Given the description of an element on the screen output the (x, y) to click on. 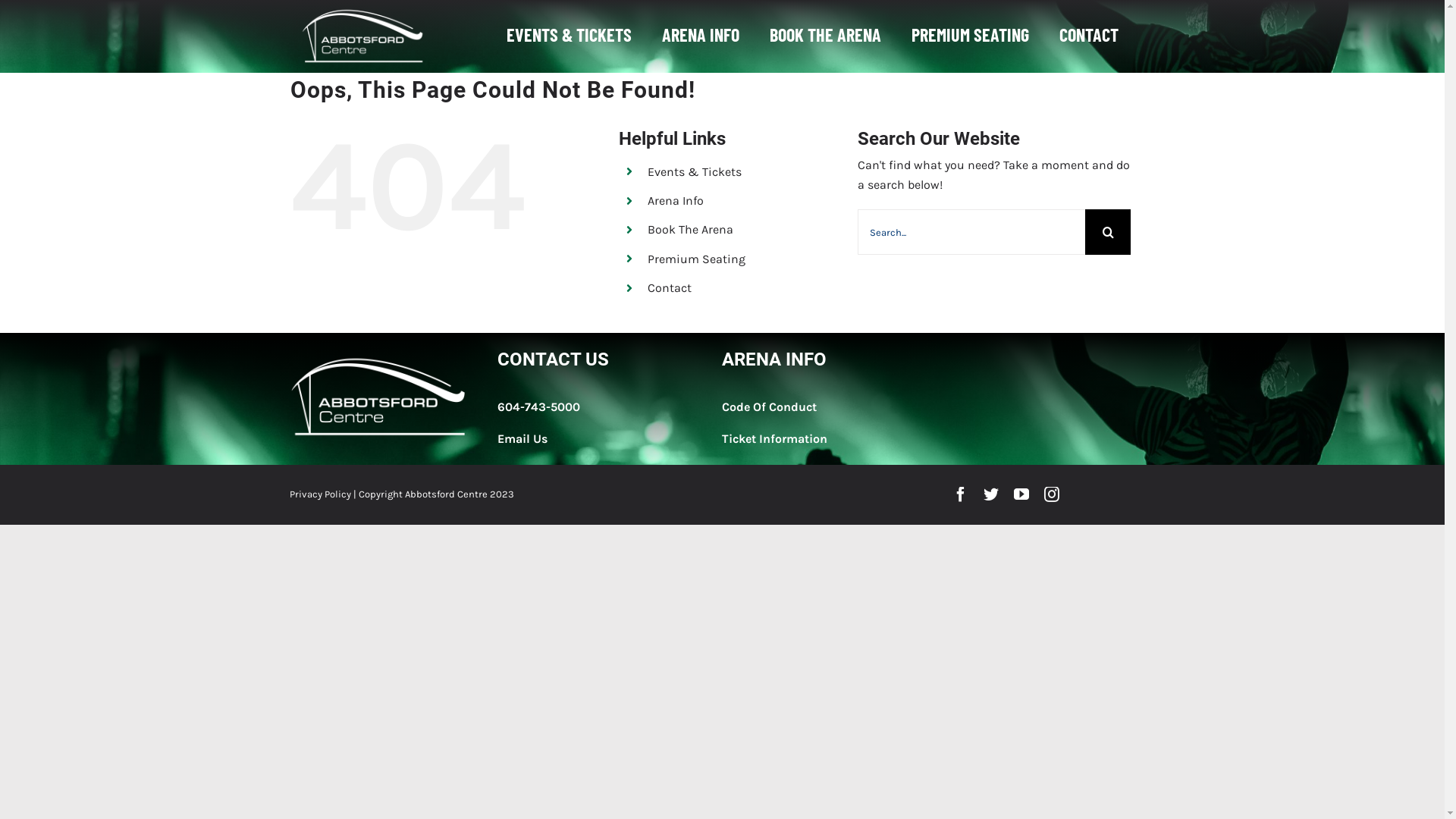
Privacy Policy Element type: text (320, 493)
Premium Seating Element type: text (696, 258)
BOOK THE ARENA Element type: text (825, 36)
ARENA INFO Element type: text (700, 36)
Email Us Element type: text (522, 438)
Contact Element type: text (669, 287)
Book The Arena Element type: text (690, 229)
EVENTS & TICKETS Element type: text (568, 36)
Code Of Conduct Element type: text (768, 406)
ARENA INFO Element type: text (773, 359)
CONTACT US Element type: text (552, 359)
CONTACT Element type: text (1088, 36)
604-743-5000 Element type: text (538, 406)
PREMIUM SEATING Element type: text (970, 36)
Arena Info Element type: text (675, 200)
Ticket Information Element type: text (774, 438)
Events & Tickets Element type: text (694, 171)
